Given the description of an element on the screen output the (x, y) to click on. 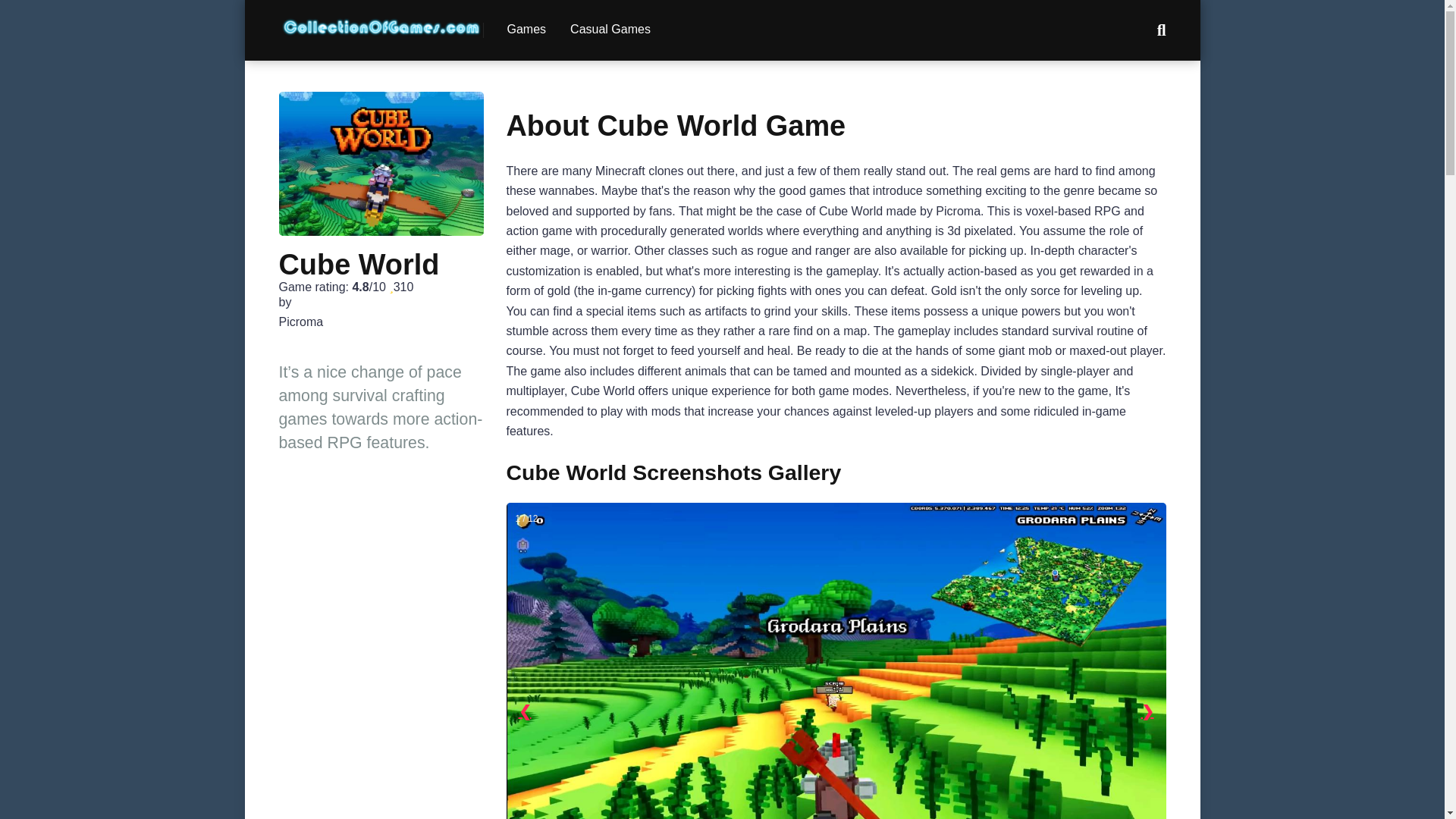
Casual Games (609, 30)
Games (526, 30)
CollectionOFGames (381, 21)
